Given the description of an element on the screen output the (x, y) to click on. 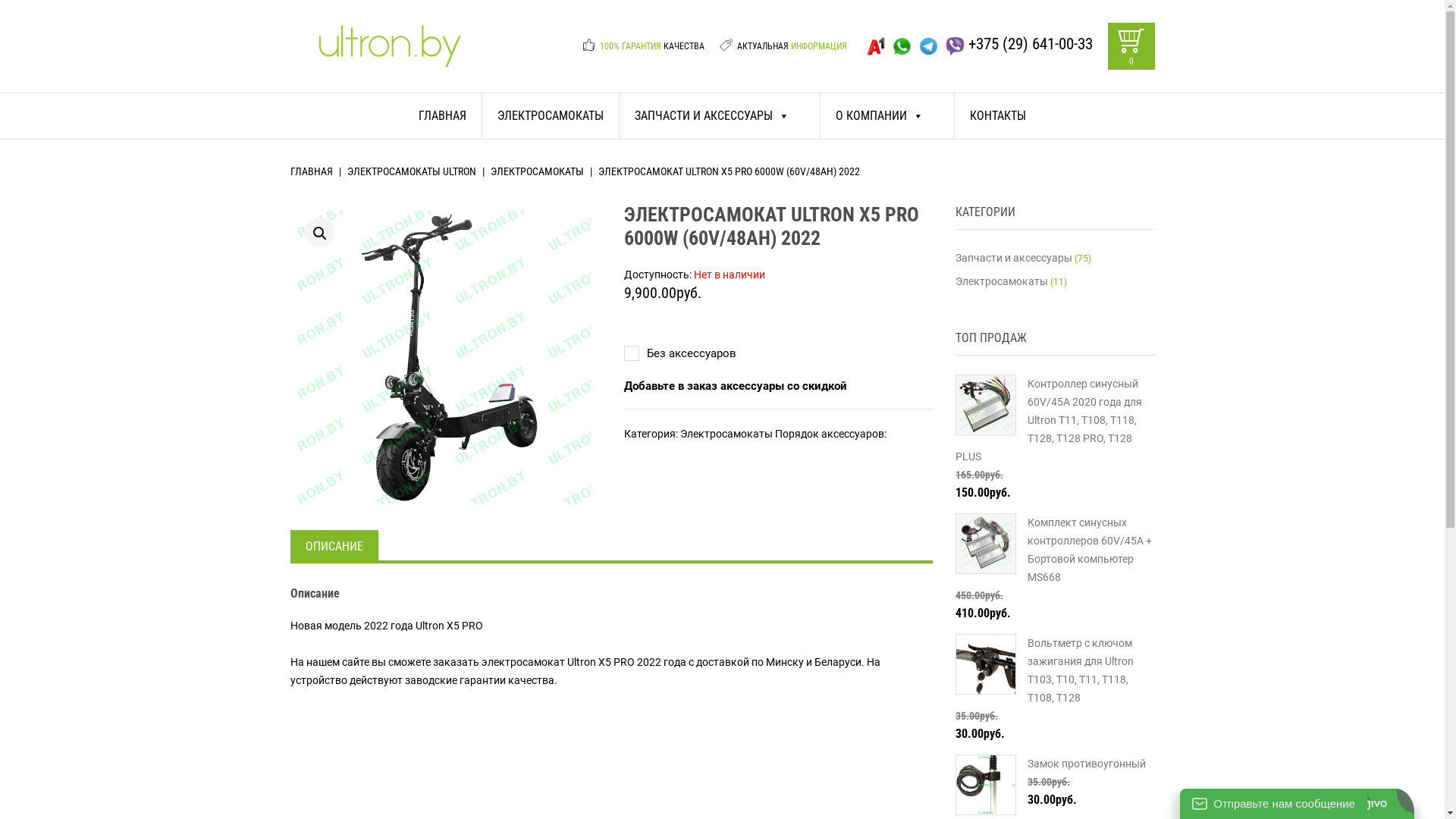
Ultron X5 Pro Element type: hover (443, 357)
+375 (29) 641-00-33 Element type: text (1029, 45)
Viber Element type: hover (954, 45)
Skip to content Element type: text (289, 93)
ultron.by Element type: hover (389, 56)
